Given the description of an element on the screen output the (x, y) to click on. 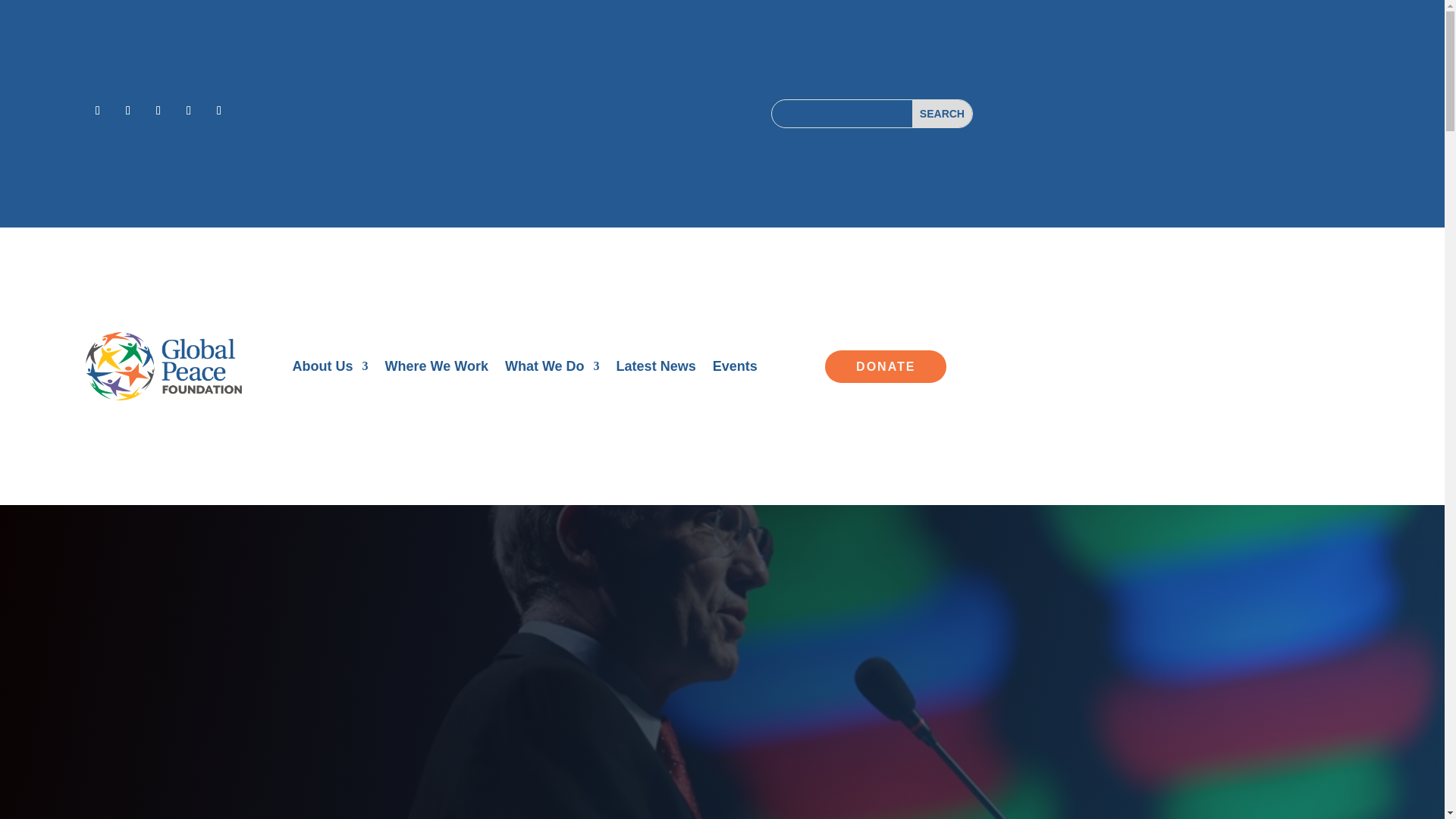
Latest News (655, 369)
Follow on X (127, 110)
Search (942, 113)
Follow on LinkedIn (188, 110)
About Us (330, 369)
Where We Work (436, 369)
Follow on Facebook (97, 110)
Global Peace Foundation Logo (163, 366)
Events (735, 369)
Follow on Instagram (158, 110)
Search (942, 113)
Search (942, 113)
What We Do (552, 369)
DONATE (885, 366)
Follow on Youtube (218, 110)
